Given the description of an element on the screen output the (x, y) to click on. 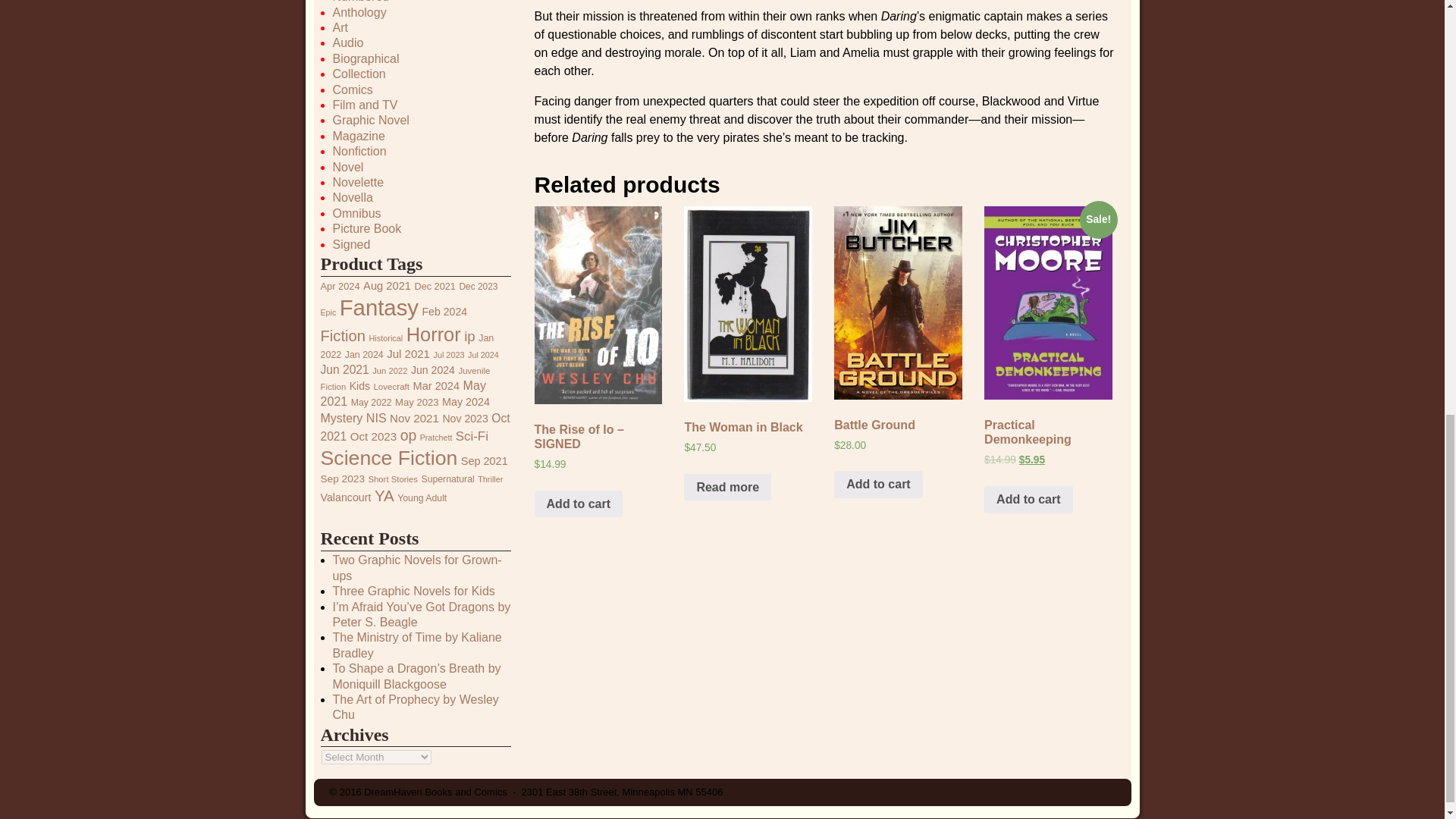
Read more (727, 487)
Add to cart (877, 483)
Add to cart (1027, 499)
Add to cart (578, 503)
